Given the description of an element on the screen output the (x, y) to click on. 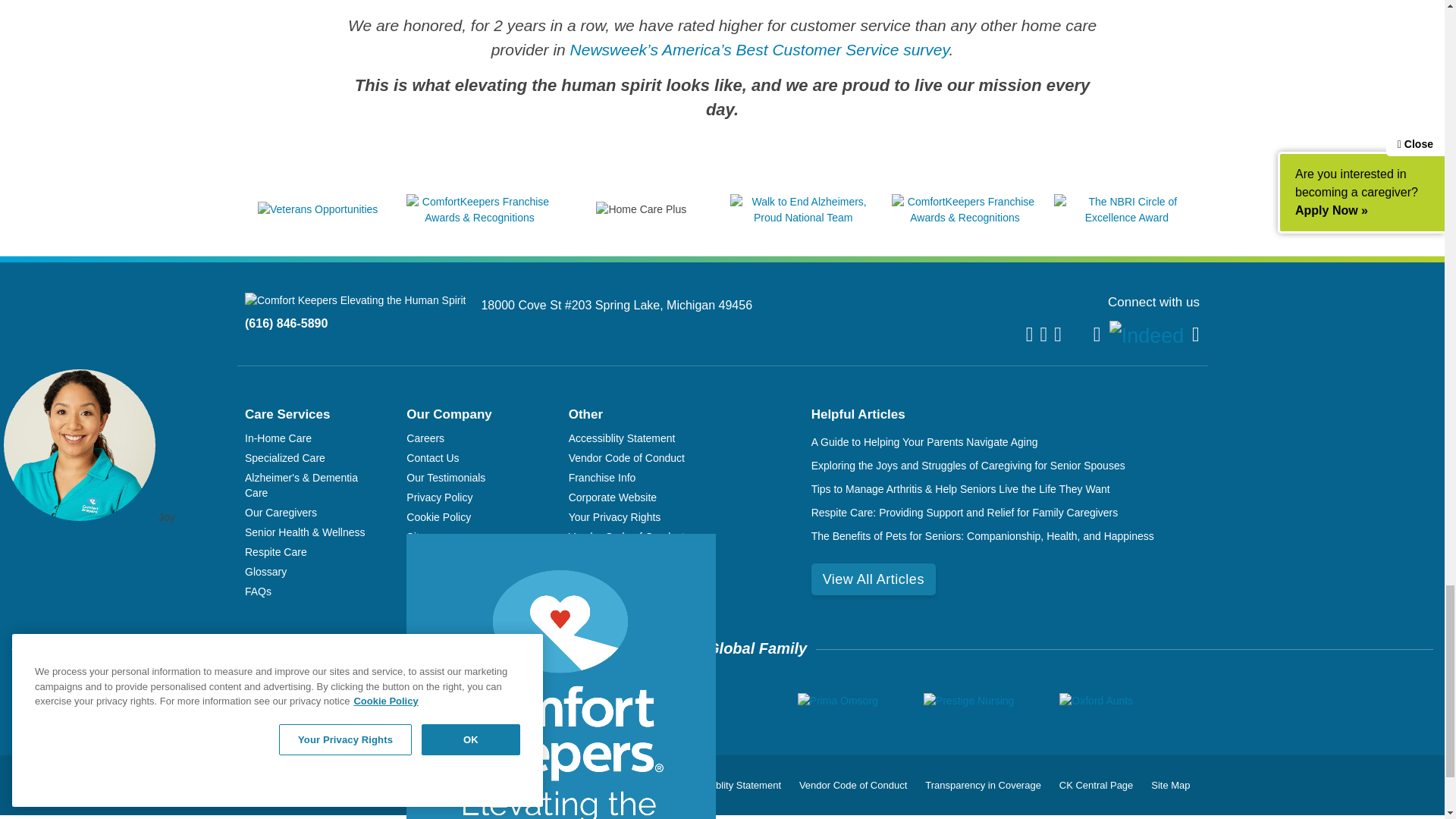
The Good Care Group (569, 701)
Oxford Aunts (1095, 700)
Prestige Nursing (968, 700)
Cherished Homecare (357, 701)
Abri (463, 700)
Prima Assistanse (706, 701)
Prima Omsorg (837, 700)
Indeed (1147, 335)
Learn more about the NBRI Circle of Excellence Award (1126, 217)
Indeed (1147, 336)
Walk to End Alzheimers, Proud National Team (803, 217)
Veterans Opportunities (317, 209)
